Given the description of an element on the screen output the (x, y) to click on. 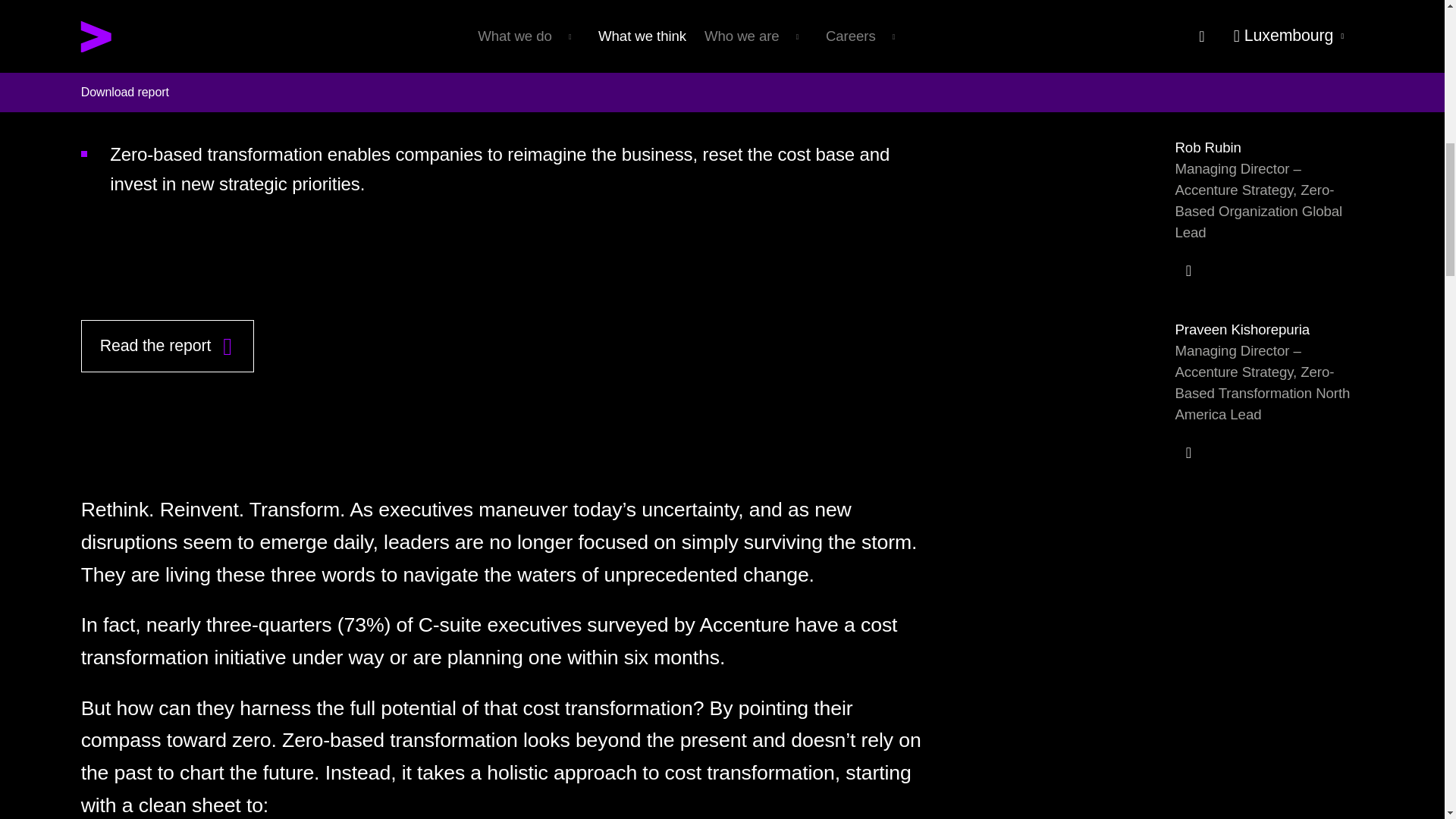
Connect with Rob Rubin on LinkedIn. This opens a new window (1187, 270)
